Given the description of an element on the screen output the (x, y) to click on. 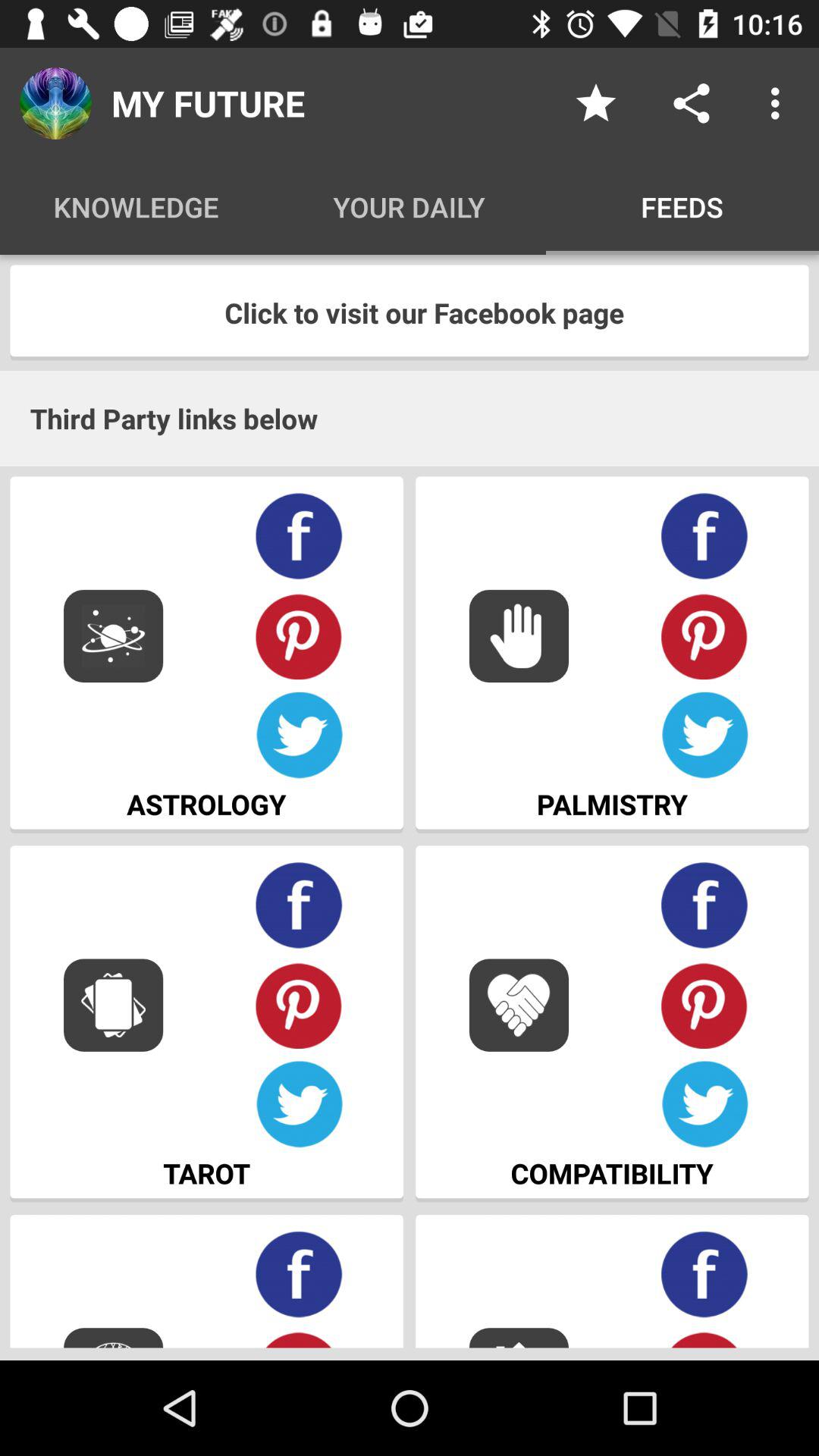
pinterest (299, 635)
